Given the description of an element on the screen output the (x, y) to click on. 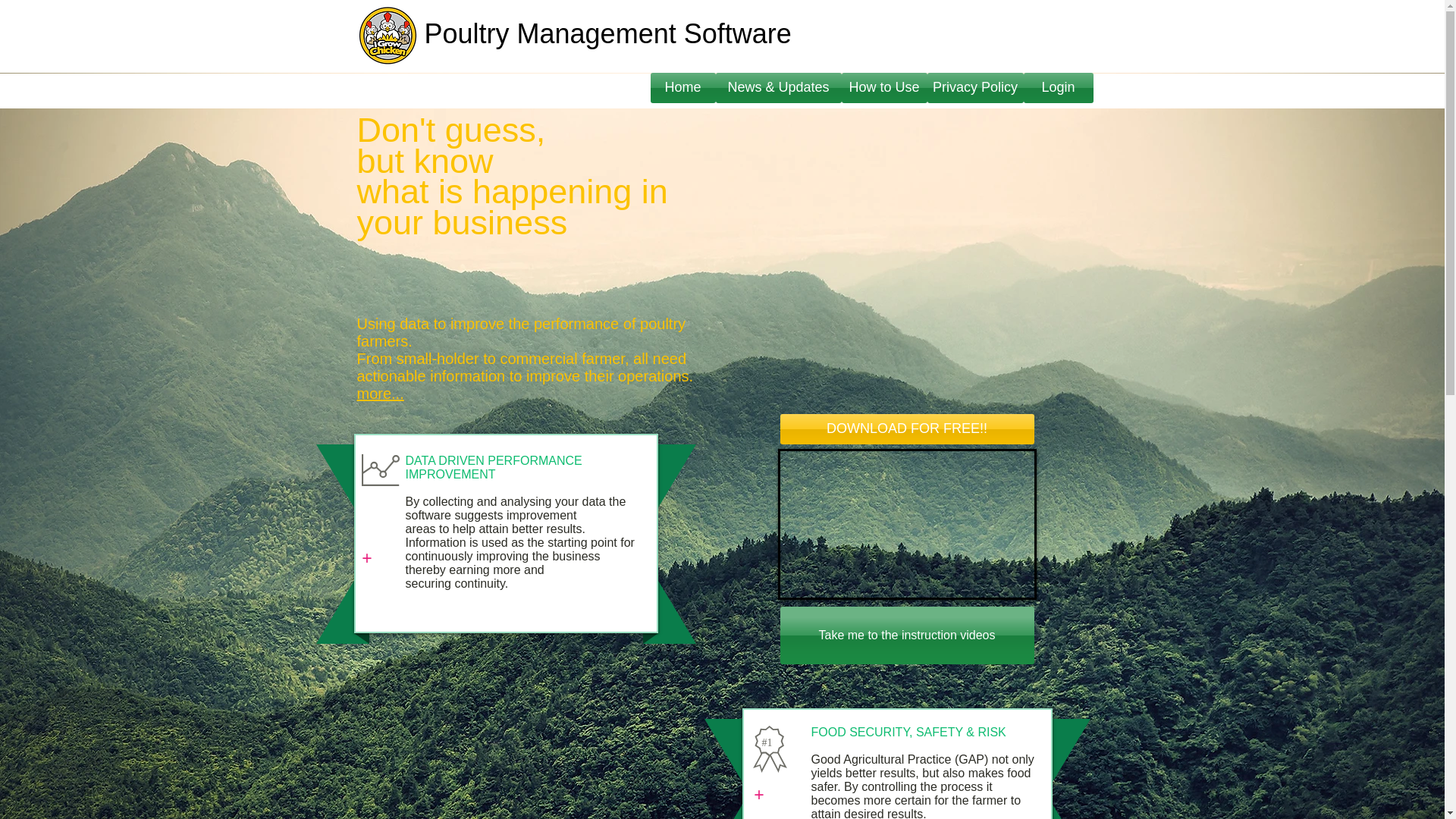
Privacy Policy (974, 87)
How to Use (884, 87)
DOWNLOAD FOR FREE!! (905, 429)
Home (683, 87)
Login (1058, 87)
more... (379, 393)
Take me to the instruction videos (905, 635)
